Given the description of an element on the screen output the (x, y) to click on. 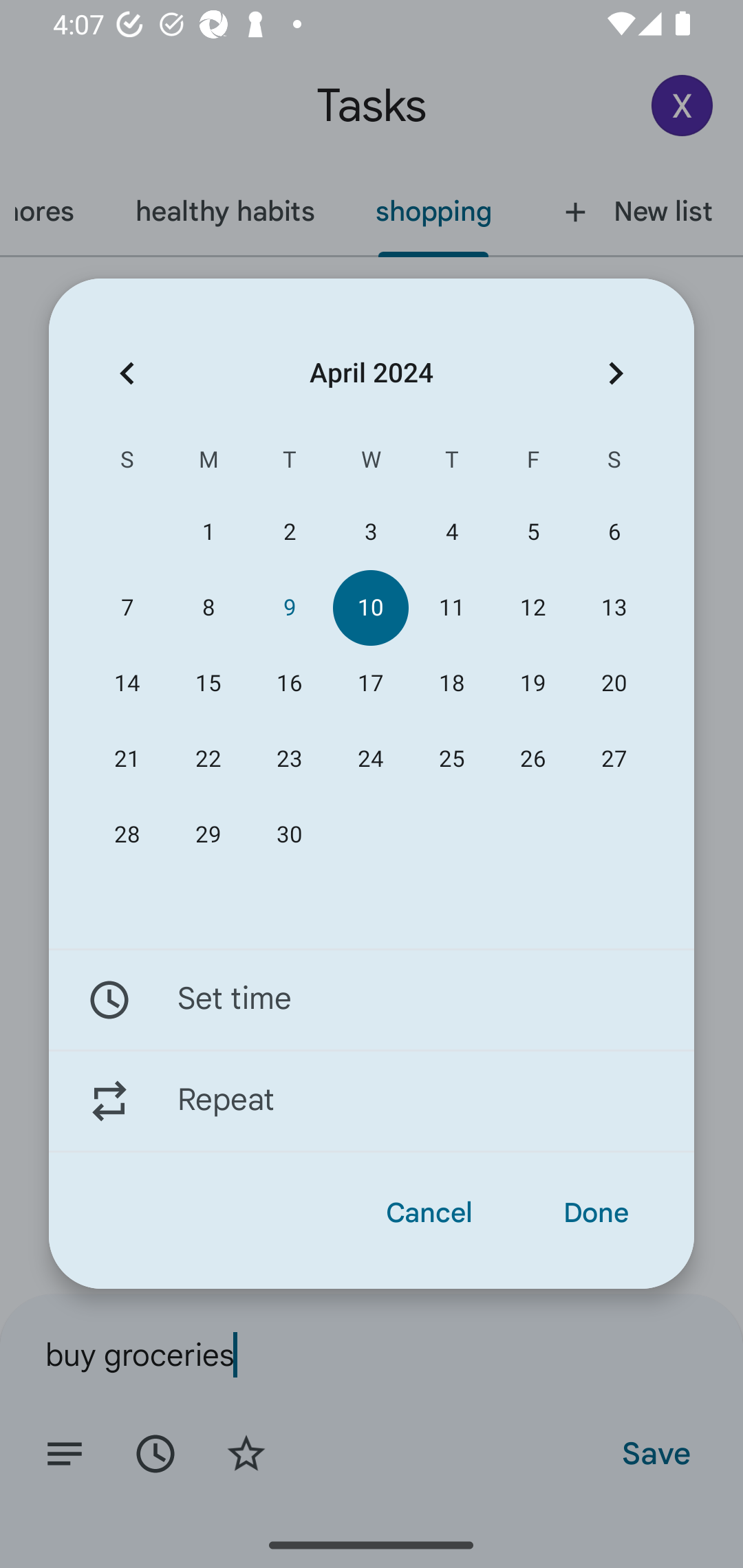
Previous month (126, 372)
Next month (615, 372)
1 01 April 2024 (207, 531)
2 02 April 2024 (288, 531)
3 03 April 2024 (370, 531)
4 04 April 2024 (451, 531)
5 05 April 2024 (532, 531)
6 06 April 2024 (613, 531)
7 07 April 2024 (126, 608)
8 08 April 2024 (207, 608)
9 09 April 2024 (288, 608)
10 10 April 2024 (370, 608)
11 11 April 2024 (451, 608)
12 12 April 2024 (532, 608)
13 13 April 2024 (613, 608)
14 14 April 2024 (126, 683)
15 15 April 2024 (207, 683)
16 16 April 2024 (288, 683)
17 17 April 2024 (370, 683)
18 18 April 2024 (451, 683)
19 19 April 2024 (532, 683)
20 20 April 2024 (613, 683)
21 21 April 2024 (126, 758)
22 22 April 2024 (207, 758)
23 23 April 2024 (288, 758)
24 24 April 2024 (370, 758)
25 25 April 2024 (451, 758)
26 26 April 2024 (532, 758)
27 27 April 2024 (613, 758)
28 28 April 2024 (126, 834)
29 29 April 2024 (207, 834)
30 30 April 2024 (288, 834)
Set time (371, 999)
Repeat (371, 1101)
Cancel (429, 1213)
Done (595, 1213)
